Given the description of an element on the screen output the (x, y) to click on. 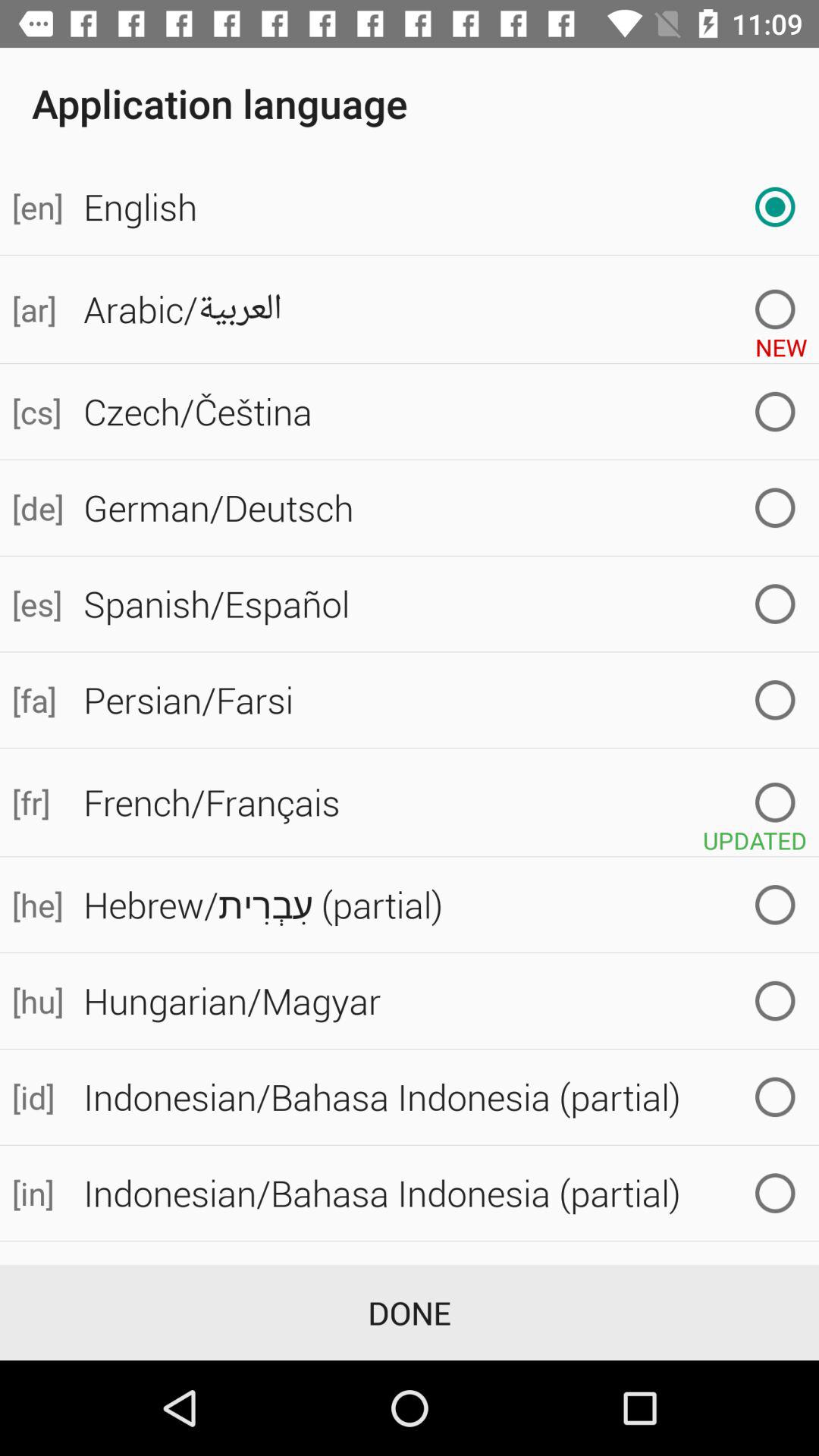
click the icon to the left of indonesian bahasa indonesia icon (35, 1192)
